Given the description of an element on the screen output the (x, y) to click on. 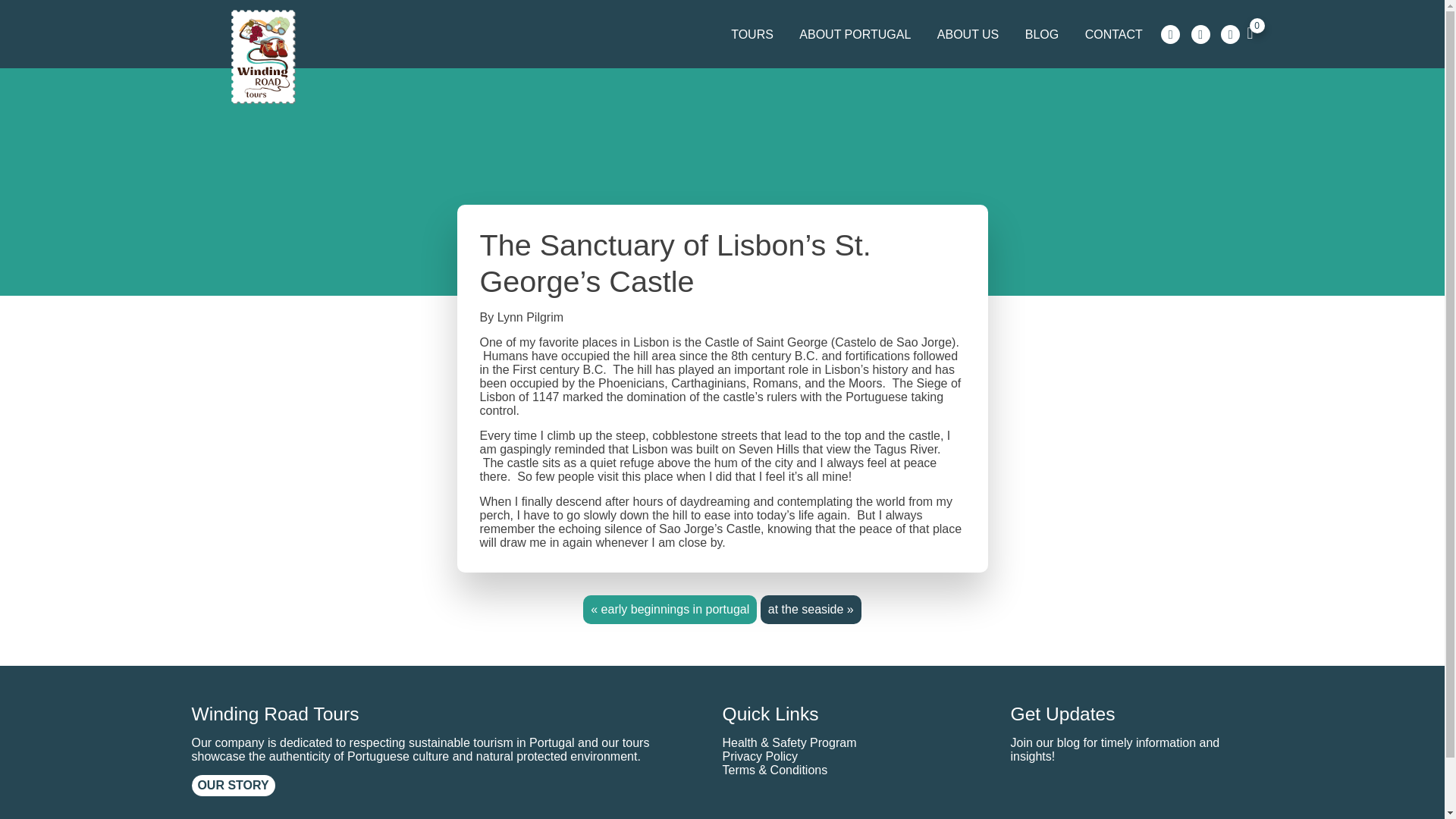
CONTACT (1114, 34)
at the seaside (806, 608)
BLOG (1041, 34)
OUR STORY (232, 785)
TOURS (751, 34)
Lynn Pilgrim (530, 317)
ABOUT PORTUGAL (854, 34)
Privacy Policy (759, 756)
early beginnings in portugal (675, 608)
ABOUT US (968, 34)
